Given the description of an element on the screen output the (x, y) to click on. 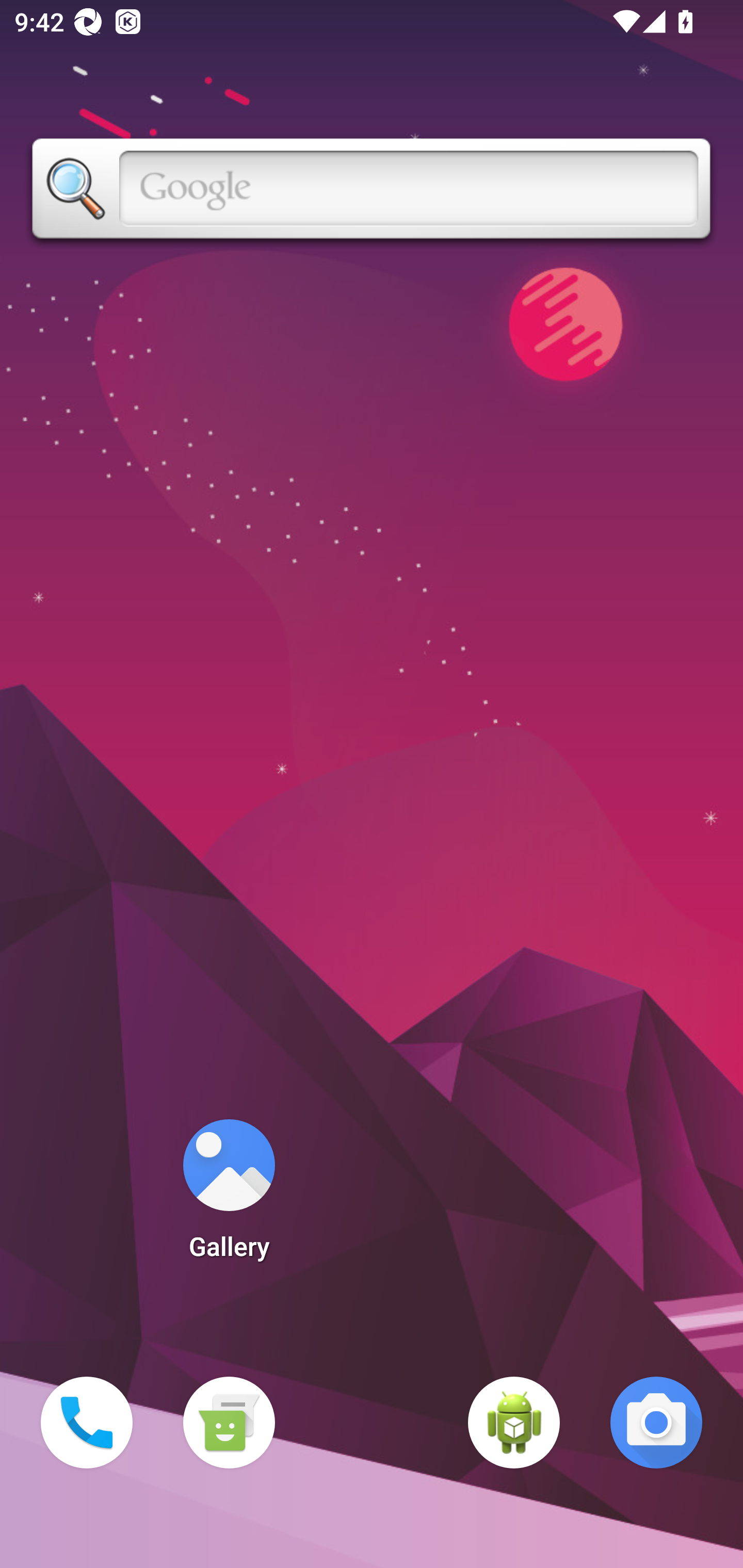
Gallery (228, 1195)
Phone (86, 1422)
Messaging (228, 1422)
WebView Browser Tester (513, 1422)
Camera (656, 1422)
